Given the description of an element on the screen output the (x, y) to click on. 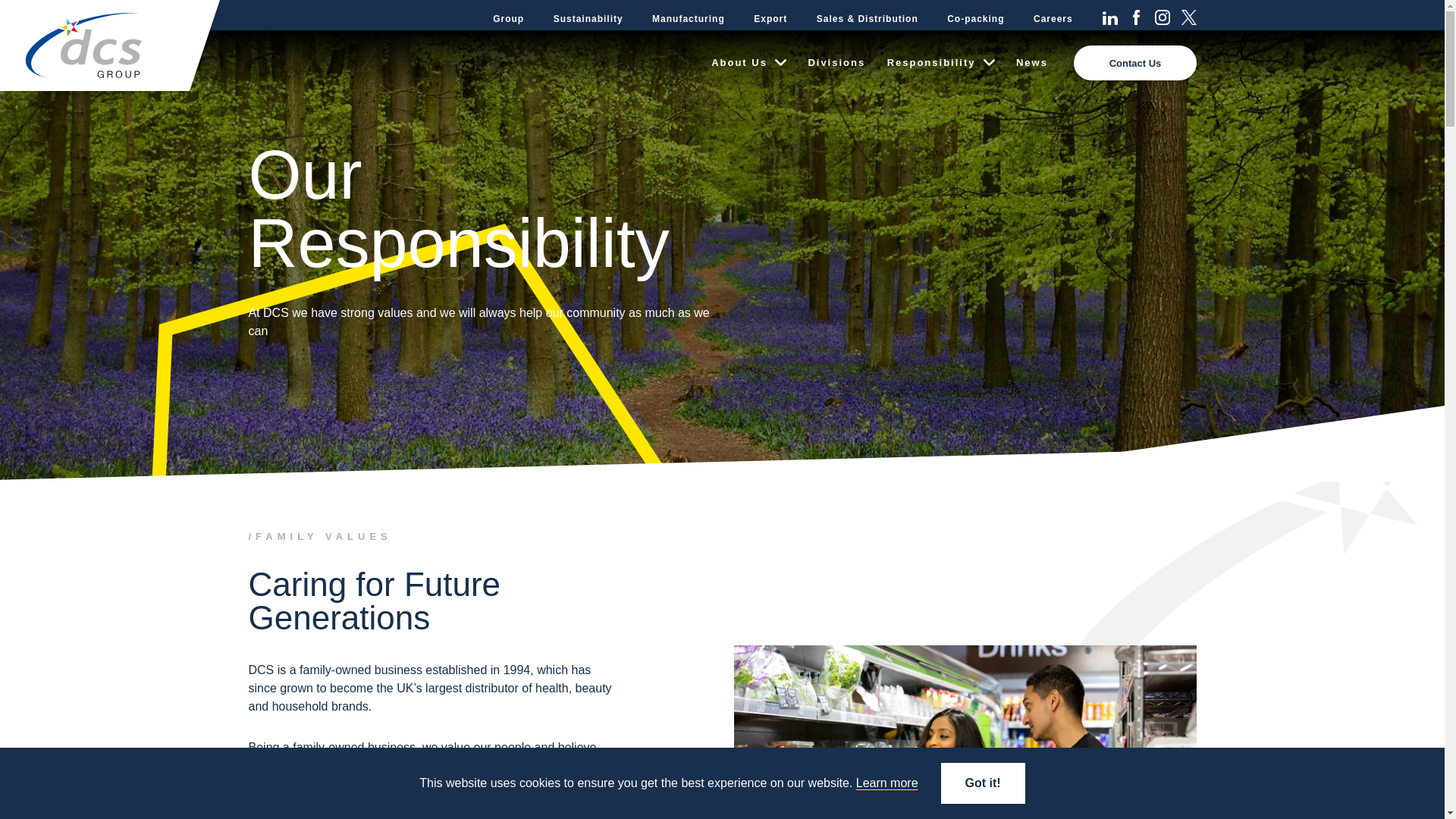
Sustainability (588, 18)
Group (507, 18)
Manufacturing (688, 18)
Home (85, 45)
Instagram (1162, 17)
LinkedIn (1110, 17)
Twitter (1188, 17)
News (1031, 62)
Facebook (1136, 17)
Got it! (982, 782)
